Given the description of an element on the screen output the (x, y) to click on. 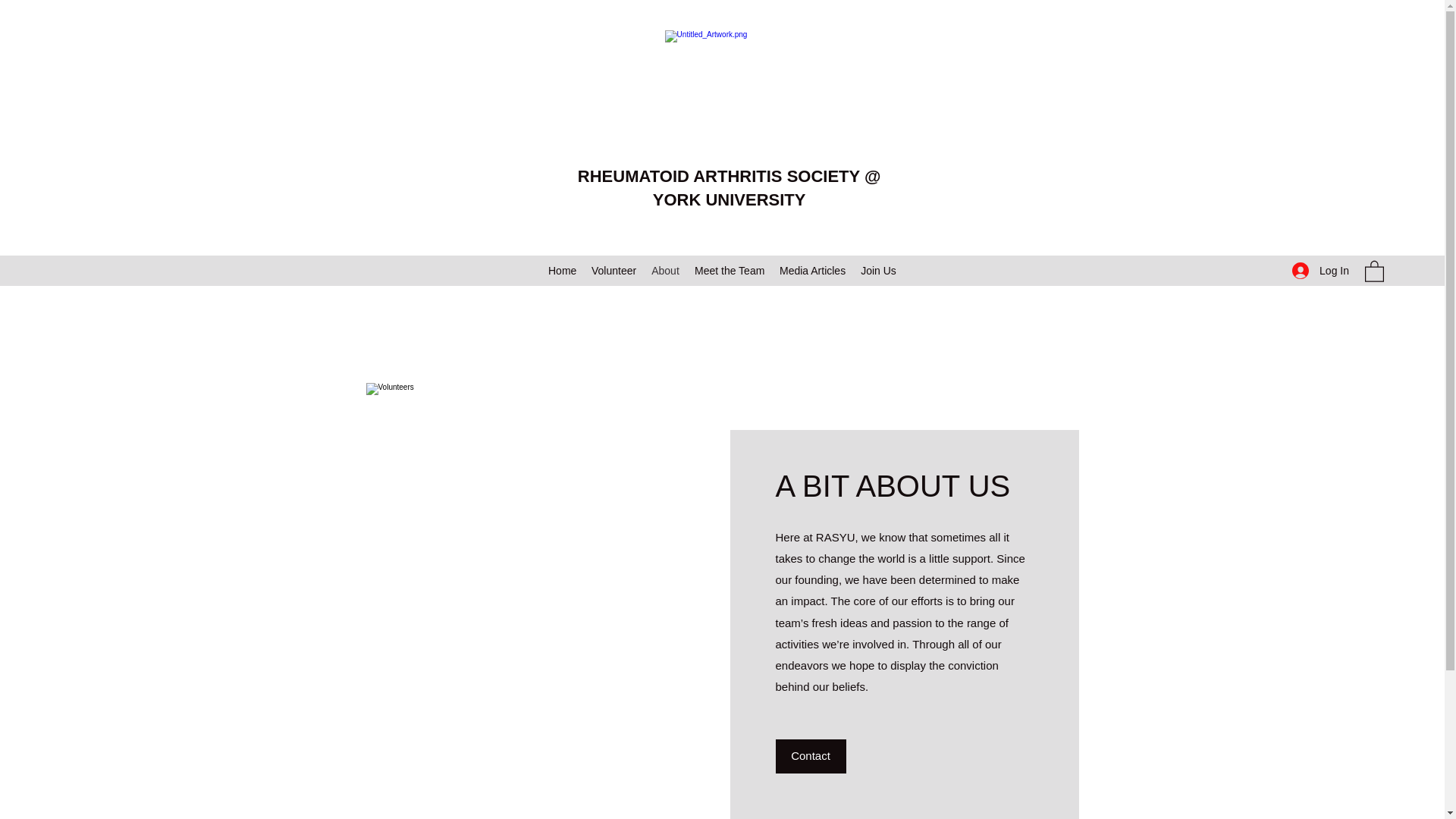
Home (561, 270)
About (665, 270)
Meet the Team (729, 270)
Log In (1320, 270)
Media Articles (812, 270)
Join Us (878, 270)
Volunteer (613, 270)
